Given the description of an element on the screen output the (x, y) to click on. 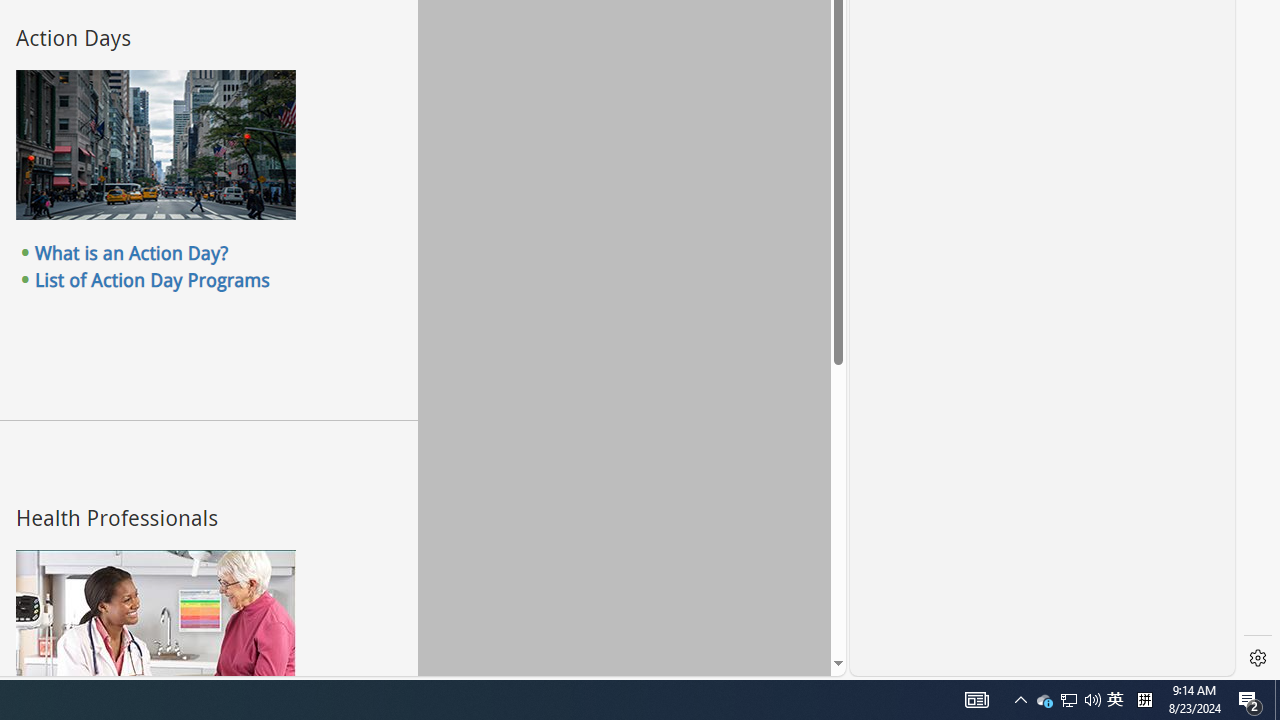
City traffic (155, 145)
What is an Action Day? (131, 253)
List of Action Day Programs (152, 279)
City traffic (155, 145)
Health Professionals (155, 623)
Health Professionals (155, 623)
